Given the description of an element on the screen output the (x, y) to click on. 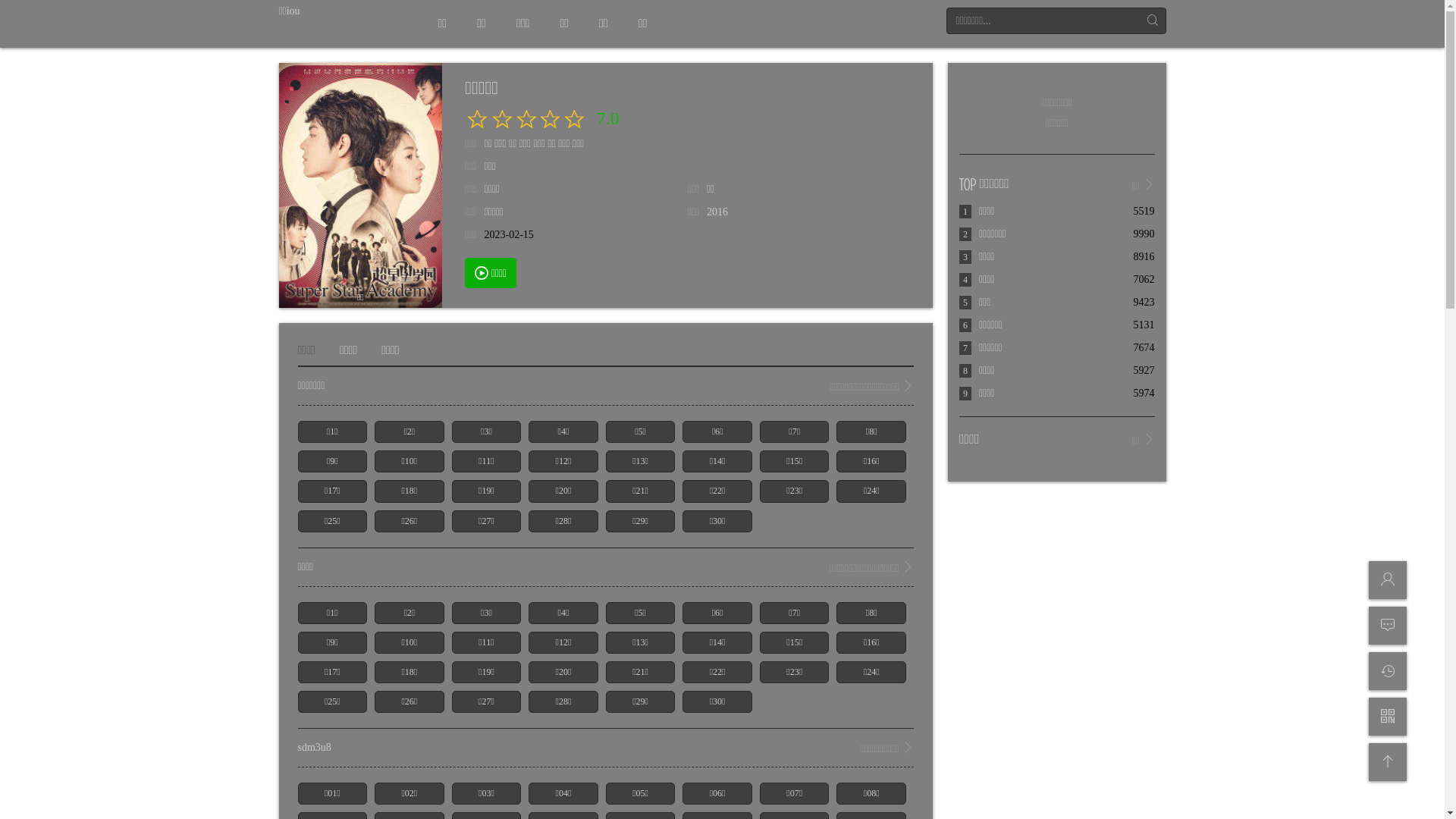
2016 Element type: text (717, 211)
